Given the description of an element on the screen output the (x, y) to click on. 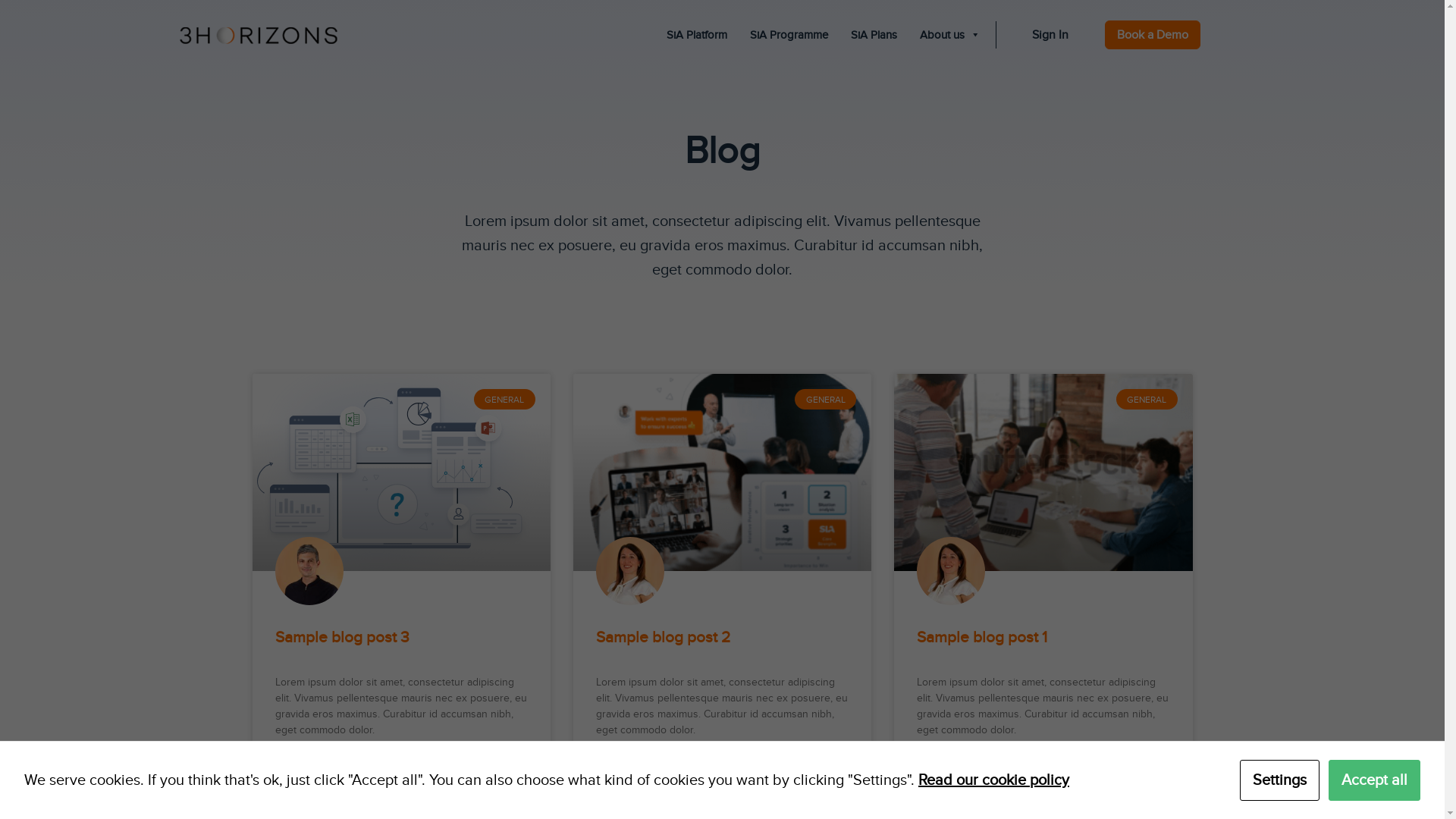
About us Element type: text (949, 34)
Sign In Element type: text (1049, 34)
Read our cookie policy Element type: text (993, 780)
Sample blog post 3 Element type: text (341, 636)
SiA Plans Element type: text (873, 34)
Accept all Element type: text (1374, 779)
Book a Demo Element type: text (1151, 34)
SiA Platform Element type: text (696, 34)
Sample blog post 1 Element type: text (981, 636)
SiA Programme Element type: text (787, 34)
Settings Element type: text (1279, 779)
Sample blog post 2 Element type: text (663, 636)
